Given the description of an element on the screen output the (x, y) to click on. 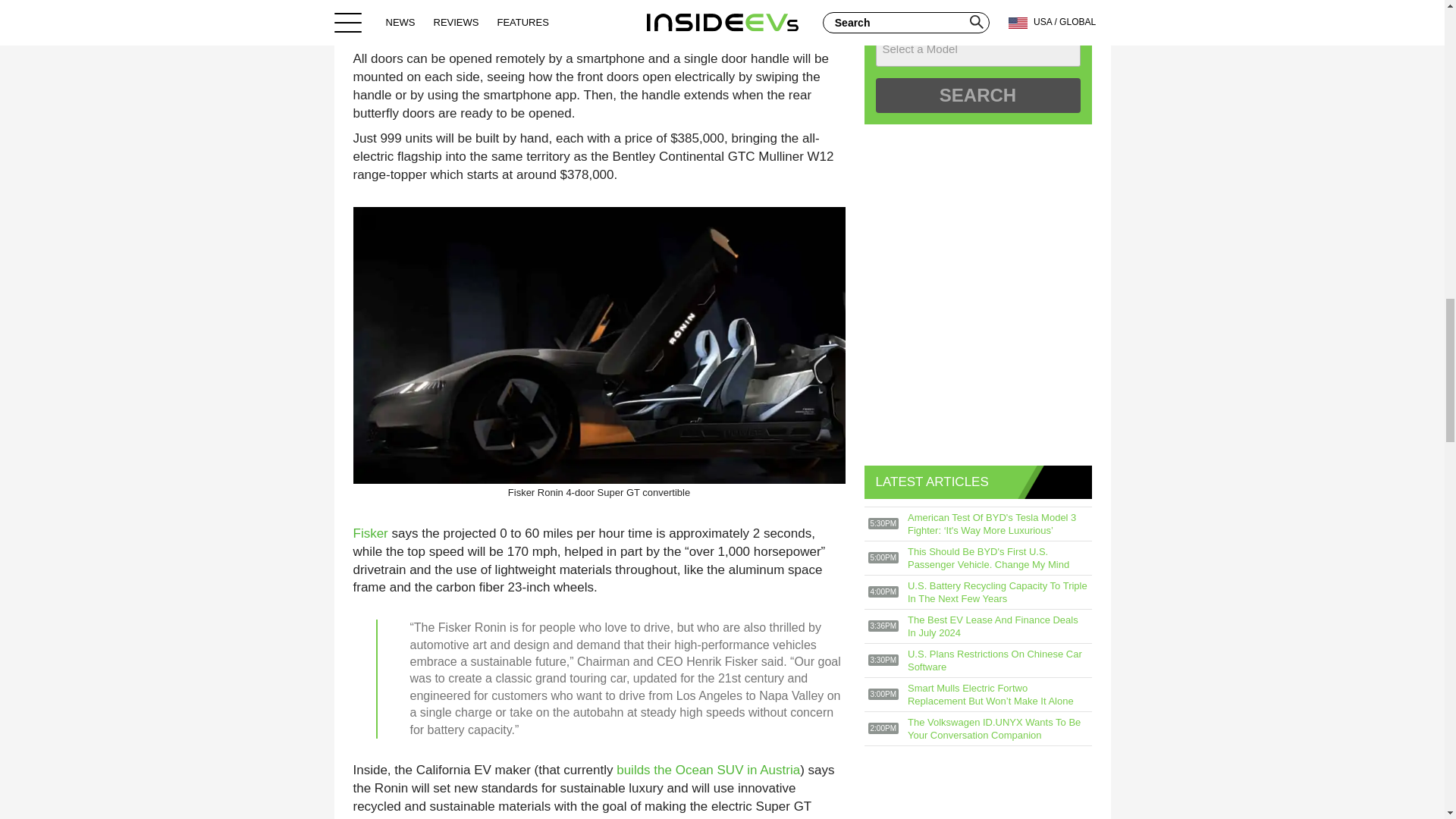
Search (977, 95)
Fisker (370, 533)
builds the Ocean SUV in Austria (707, 769)
